Given the description of an element on the screen output the (x, y) to click on. 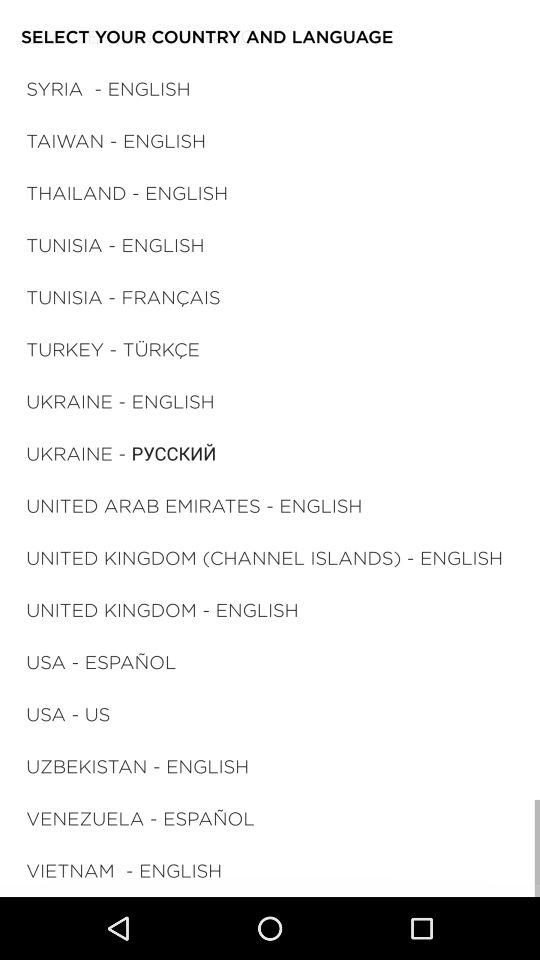
flip to the taiwan - english icon (115, 140)
